Given the description of an element on the screen output the (x, y) to click on. 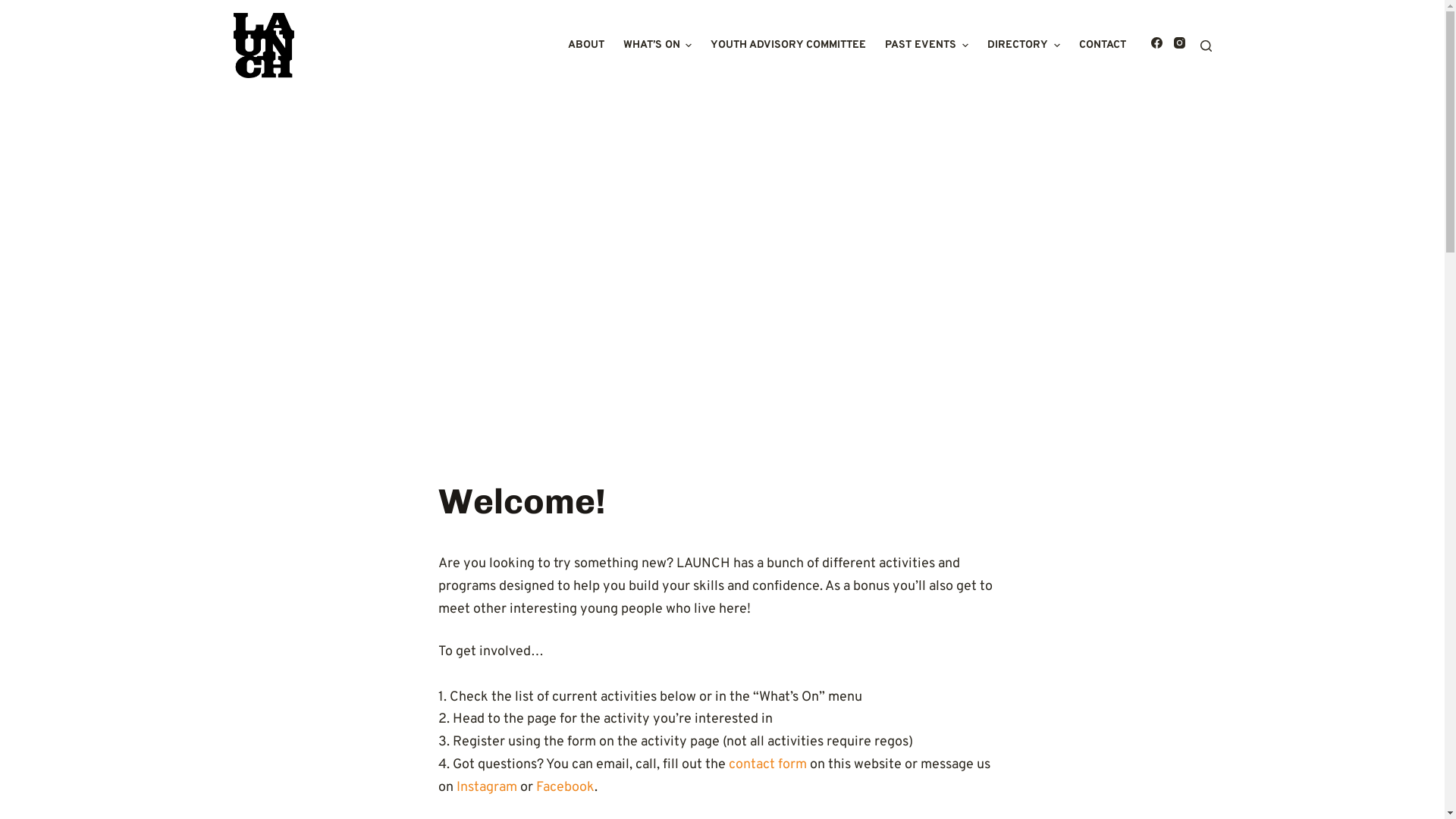
YOUTH ADVISORY COMMITTEE Element type: text (788, 45)
CONTACT Element type: text (1102, 45)
Skip to content Element type: text (15, 7)
Instagram Element type: text (486, 787)
DIRECTORY Element type: text (1024, 45)
contact form Element type: text (767, 764)
Facebook Element type: text (564, 787)
ABOUT Element type: text (585, 45)
PAST EVENTS Element type: text (926, 45)
